Given the description of an element on the screen output the (x, y) to click on. 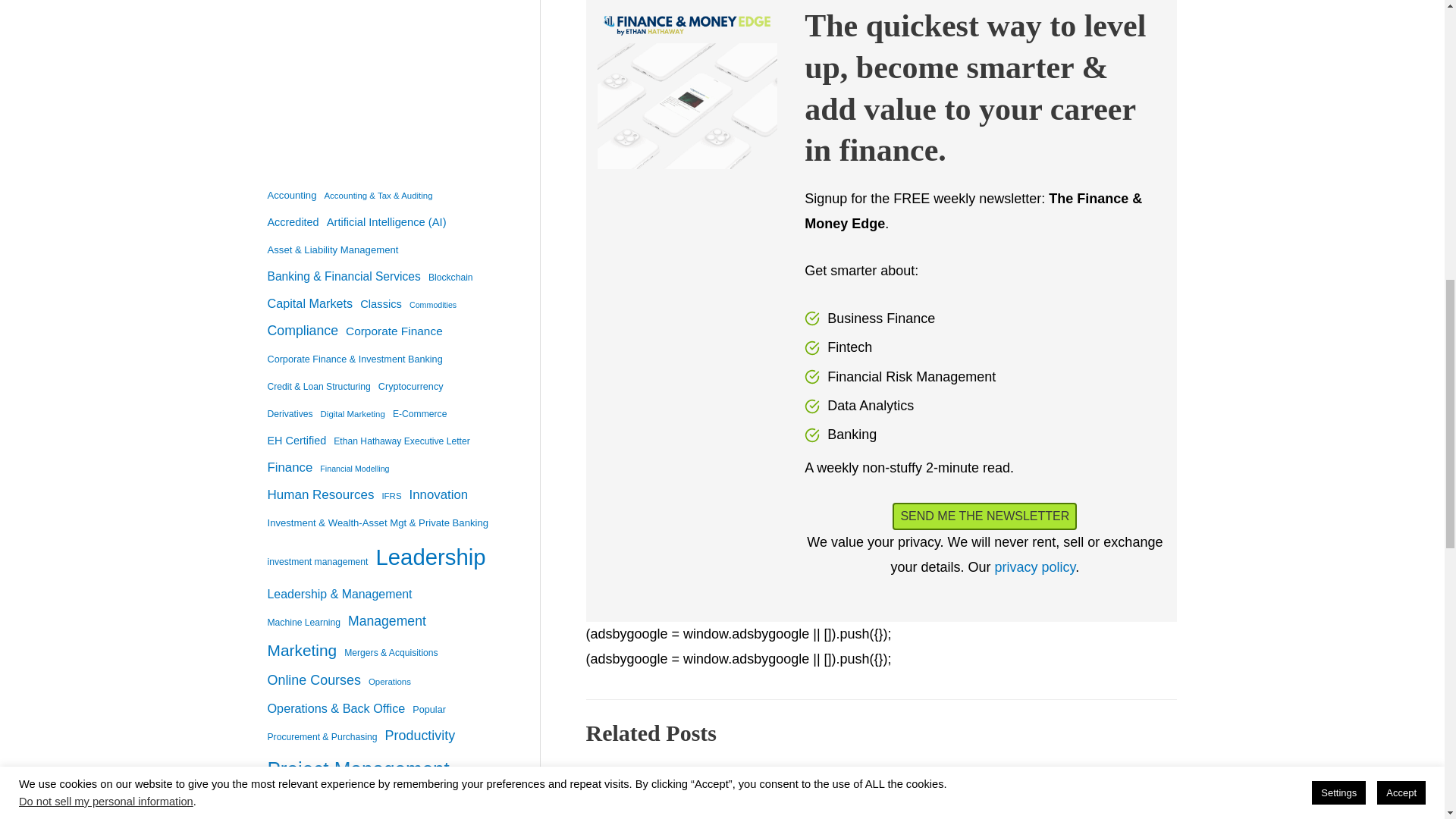
Advertisement (379, 40)
